Given the description of an element on the screen output the (x, y) to click on. 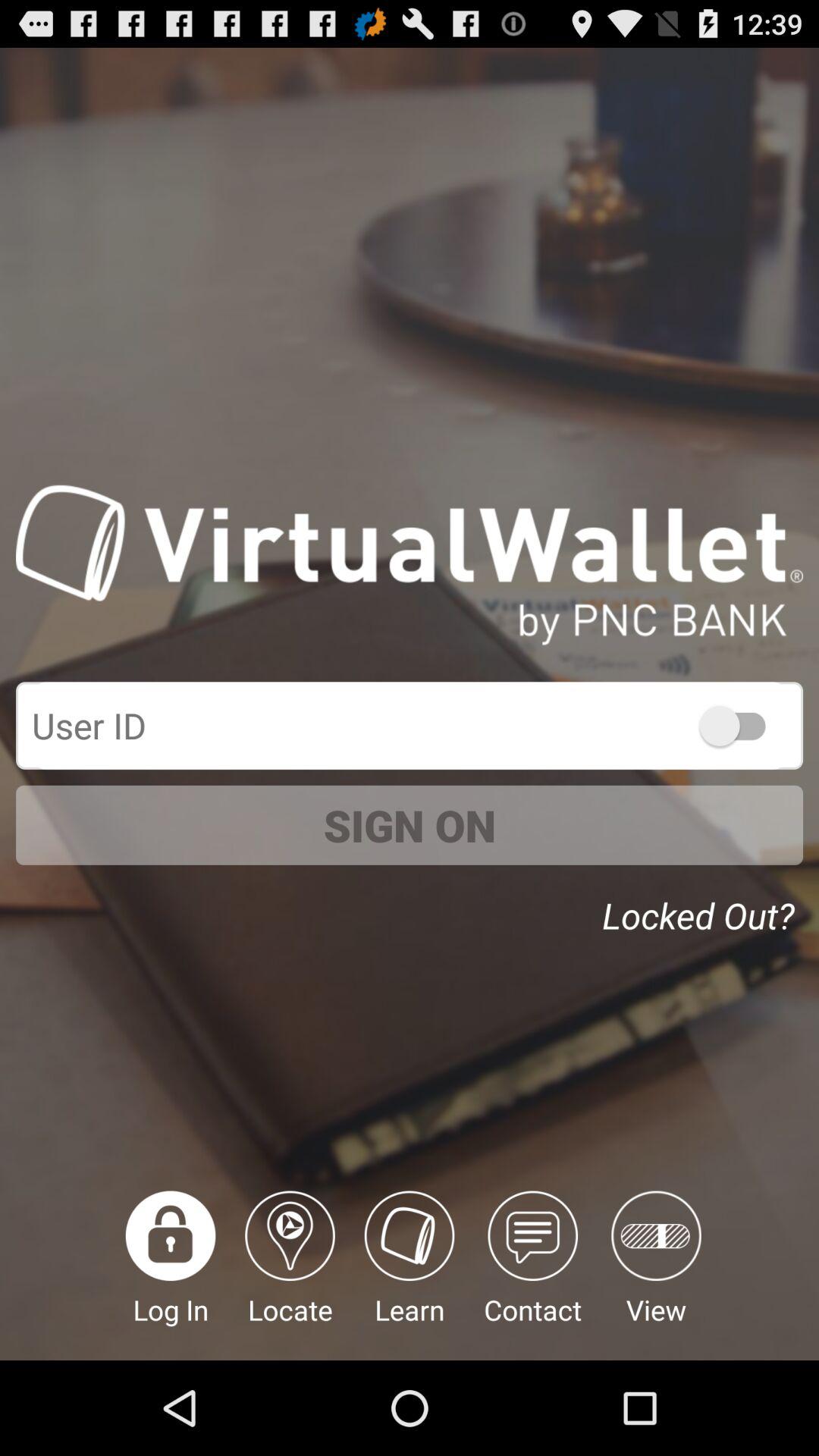
toggle user id (739, 725)
